Given the description of an element on the screen output the (x, y) to click on. 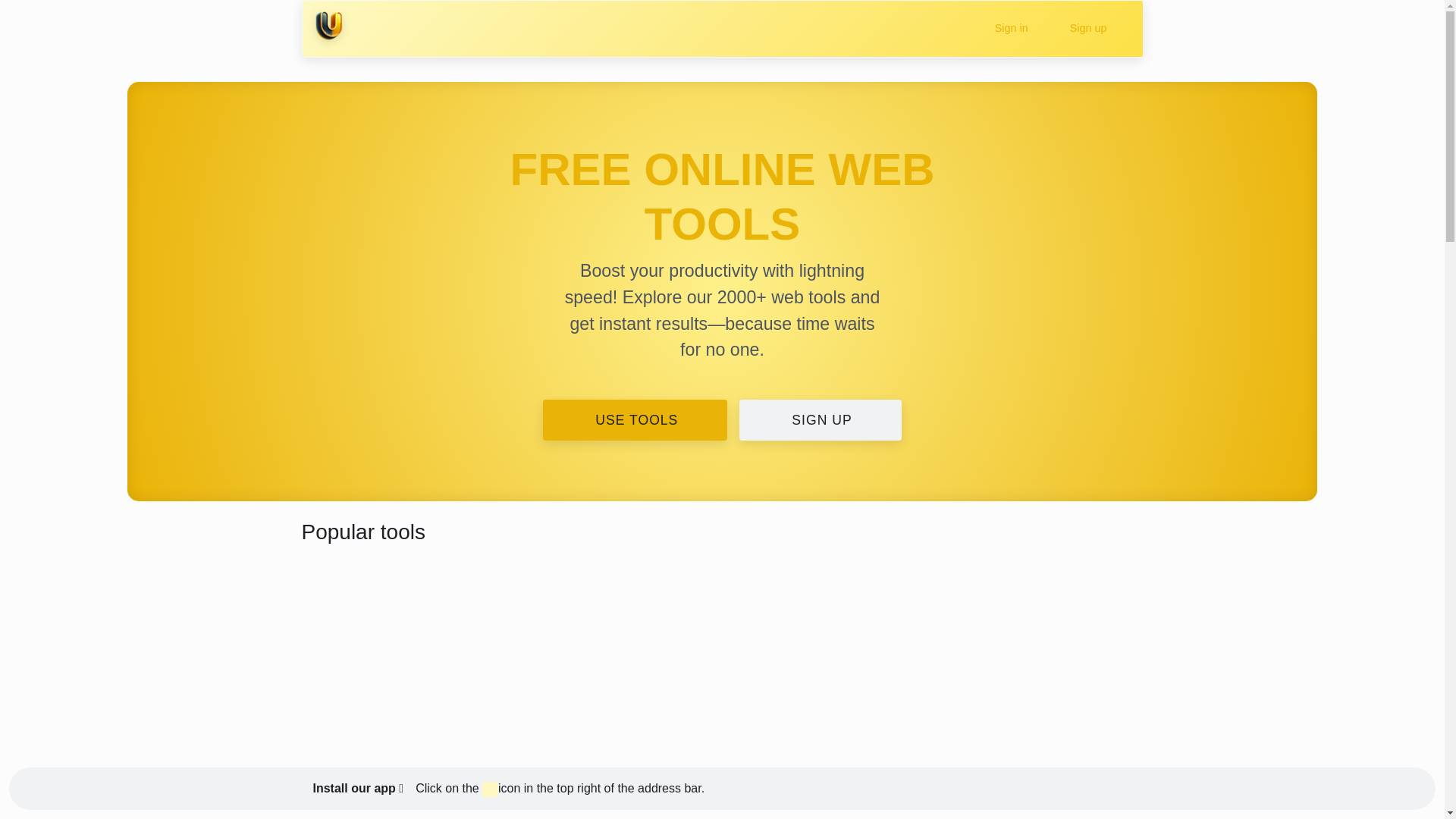
USE TOOLS (634, 419)
Sign in (1008, 28)
Sign up (1085, 28)
SIGN UP (820, 419)
